Given the description of an element on the screen output the (x, y) to click on. 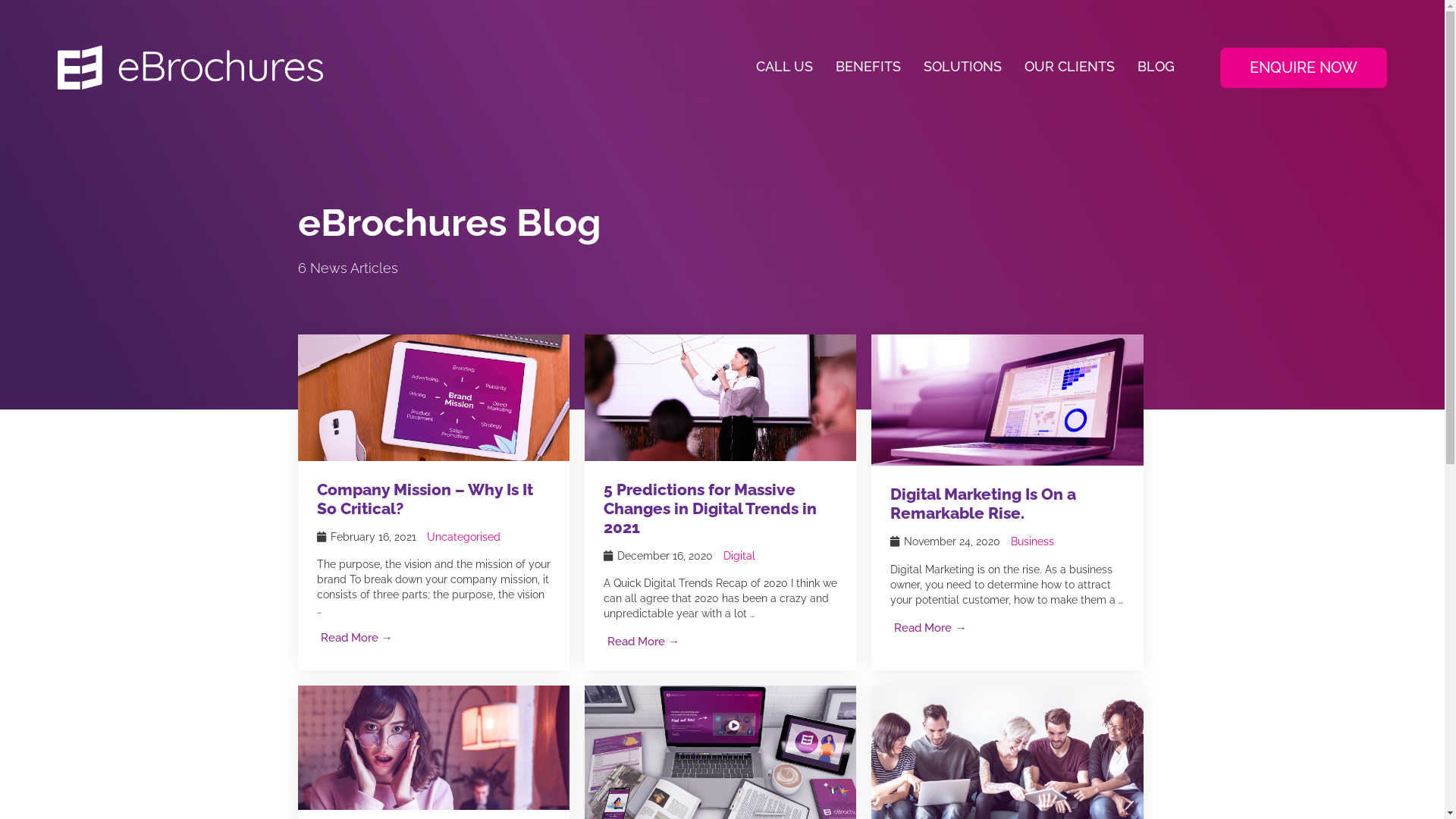
ENQUIRE NOW Element type: text (1303, 67)
Finding The Right Presentation Documents For Your Business Element type: hover (720, 755)
5 Predictions for Massive Changes in Digital Trends in 2021 Element type: text (709, 508)
OUR CLIENTS Element type: text (1069, 67)
SOLUTIONS Element type: text (962, 67)
Digital Marketing Is On a Remarkable Rise. Element type: hover (1006, 398)
Introducing eBrochures, optimising content in a digital age Element type: hover (1006, 756)
CALL US Element type: text (784, 67)
5 Predictions for Massive Changes in Digital Trends in 2021 Element type: hover (720, 396)
BLOG Element type: text (1155, 67)
BENEFITS Element type: text (867, 67)
Digital Marketing Is On a Remarkable Rise. Element type: text (983, 503)
